Given the description of an element on the screen output the (x, y) to click on. 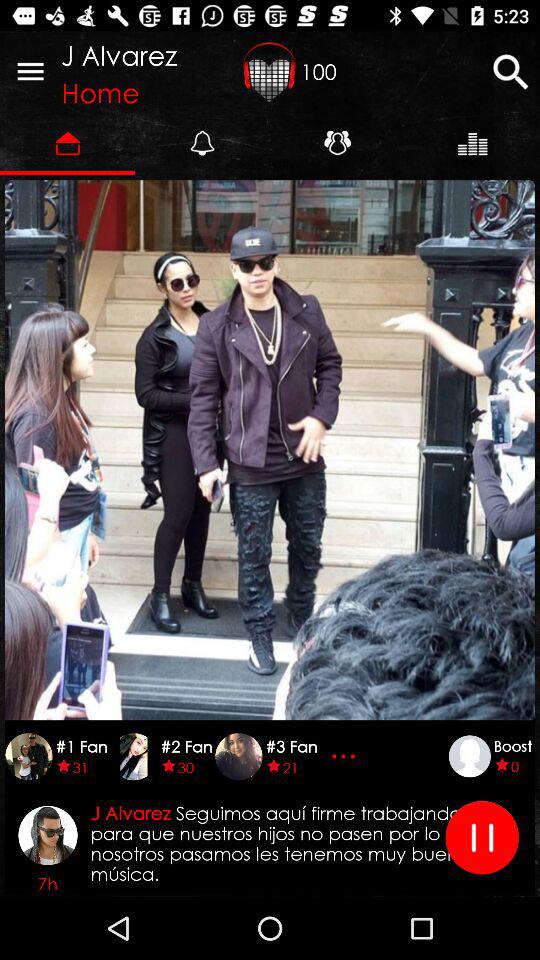
search (510, 71)
